Given the description of an element on the screen output the (x, y) to click on. 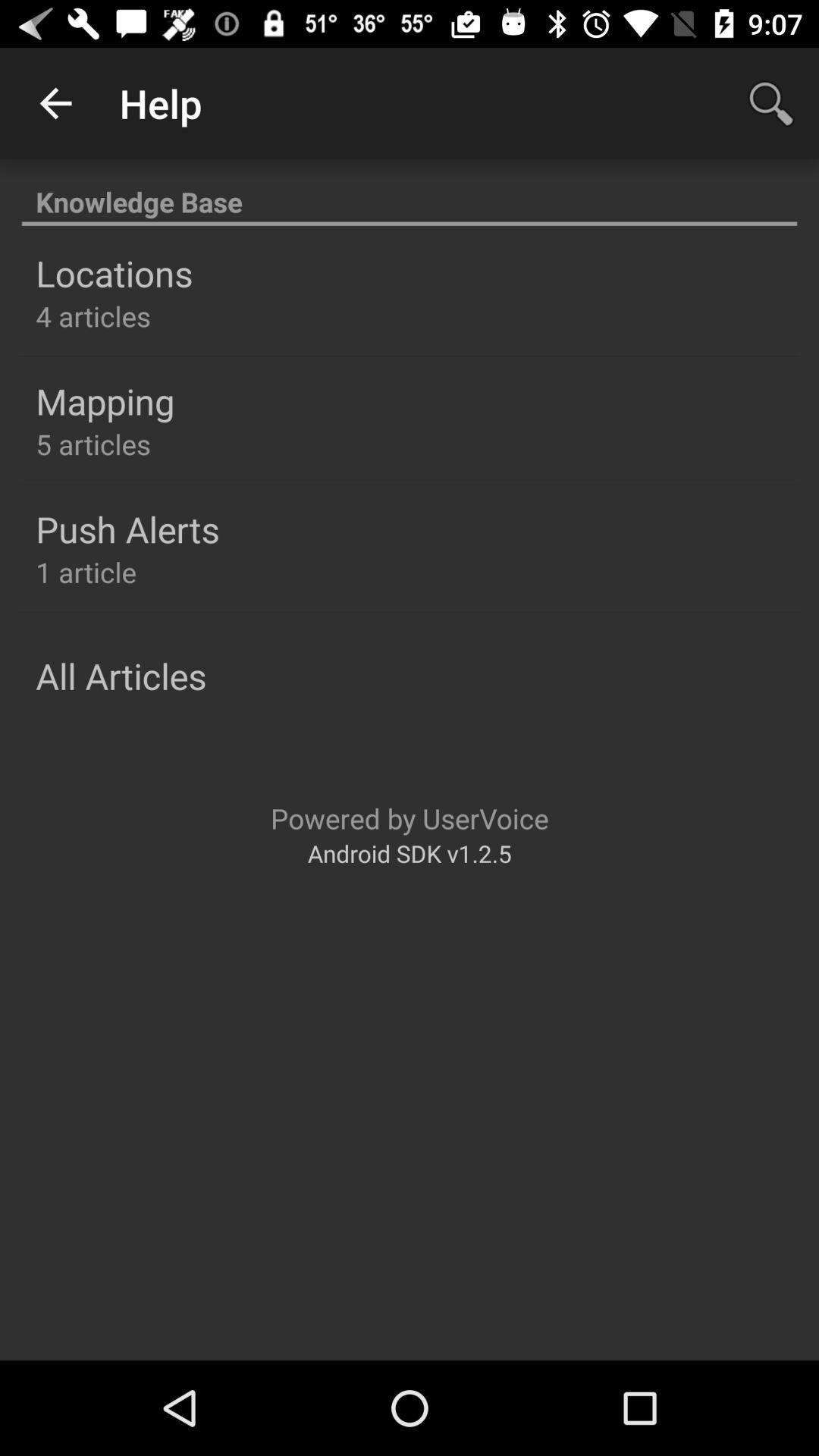
tap the item next to the help icon (771, 103)
